Given the description of an element on the screen output the (x, y) to click on. 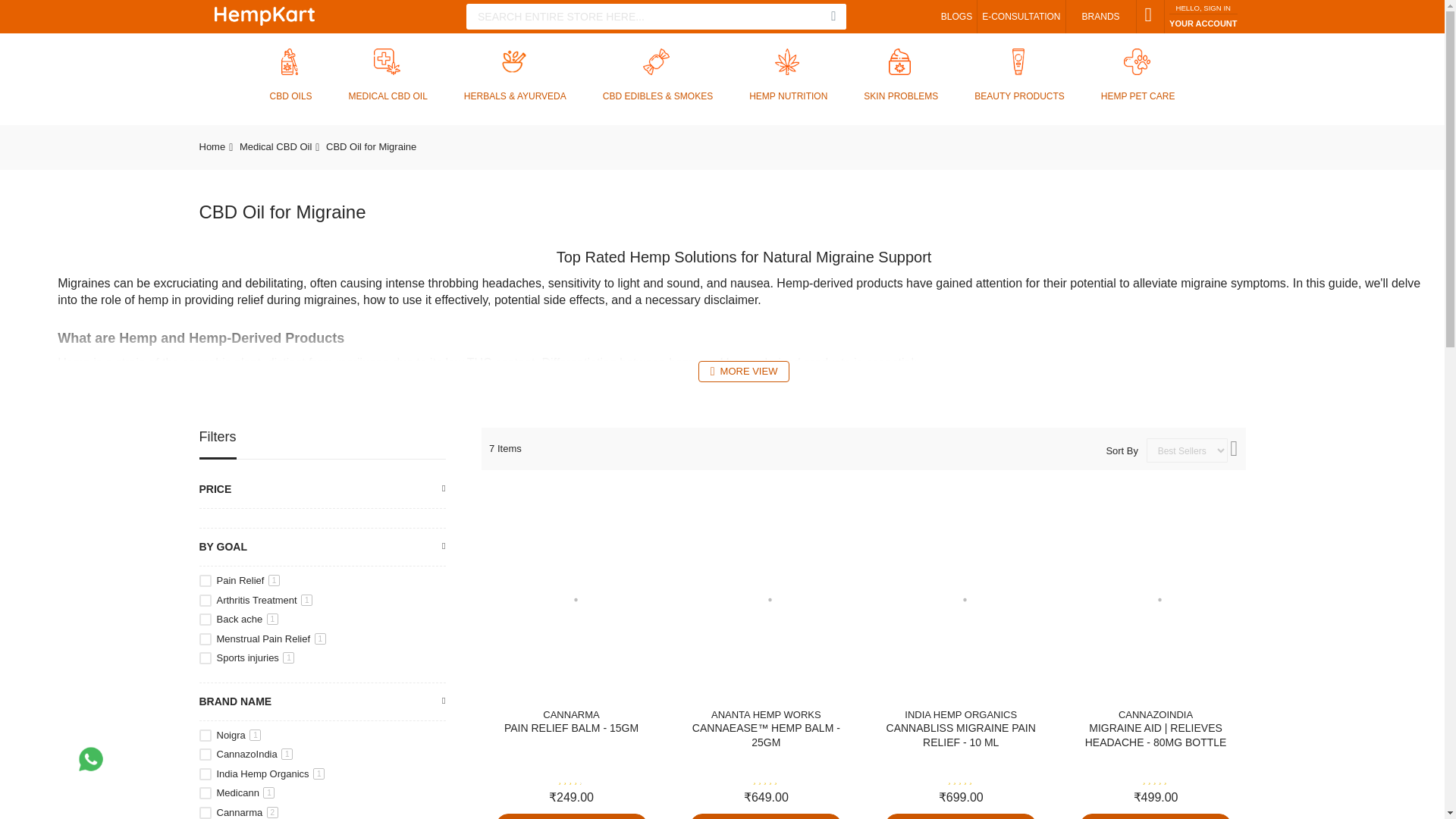
15 (204, 619)
E-CONSULTATION (1020, 16)
Add to Cart (765, 816)
16 (204, 735)
17 (204, 754)
Add to Cart (960, 816)
BRANDS (1100, 15)
18 (204, 812)
129 (204, 639)
Add to Cart (571, 816)
20 (204, 774)
25 (204, 657)
Go to Home Page (211, 146)
23 (204, 600)
Search (833, 16)
